Given the description of an element on the screen output the (x, y) to click on. 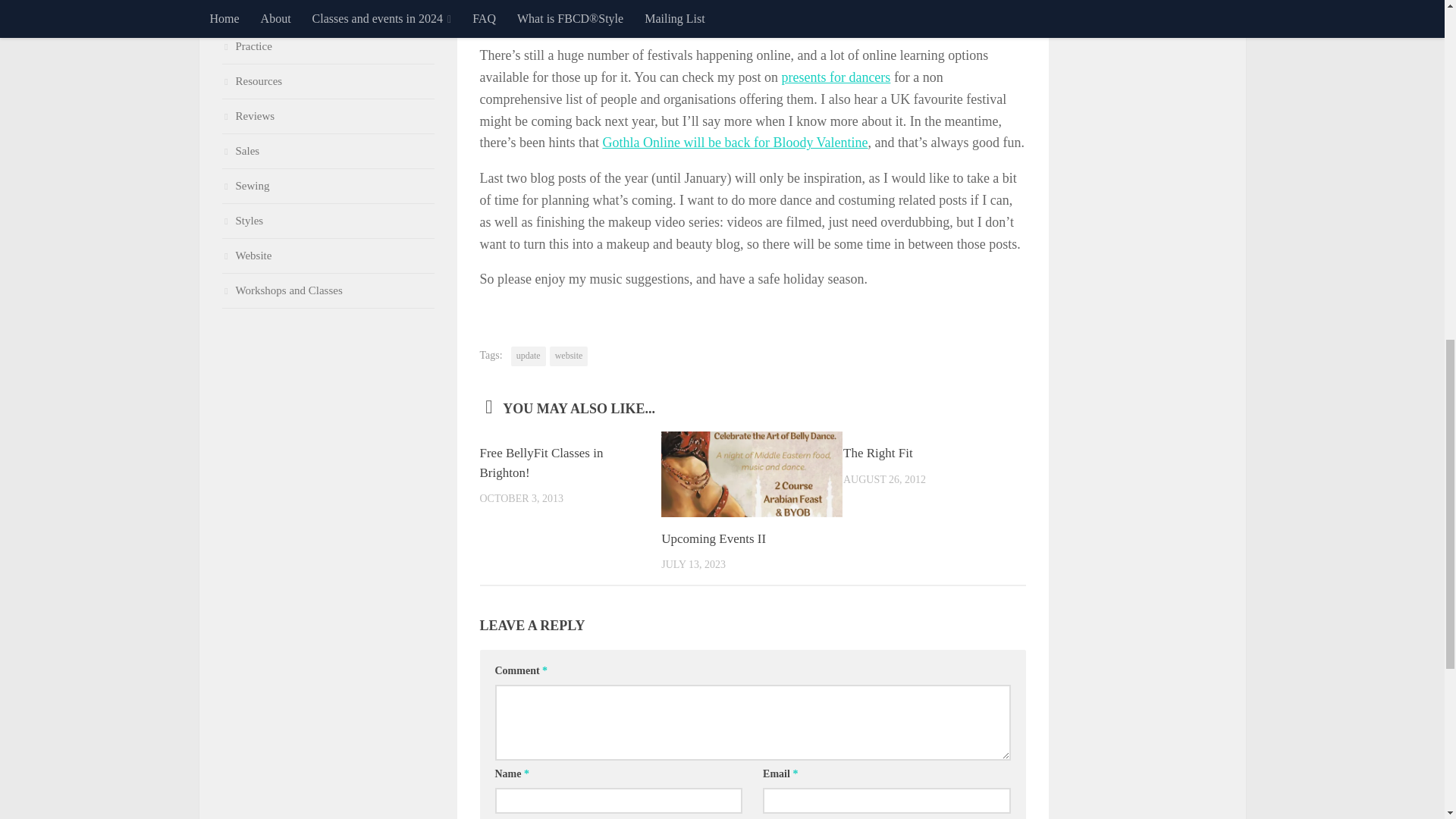
website (569, 356)
Upcoming Events II (713, 538)
Free BellyFit Classes in Brighton! (540, 462)
Gothla Online will be back for Bloody Valentine (734, 142)
update (528, 356)
The Right Fit (877, 452)
presents for dancers (834, 77)
